Given the description of an element on the screen output the (x, y) to click on. 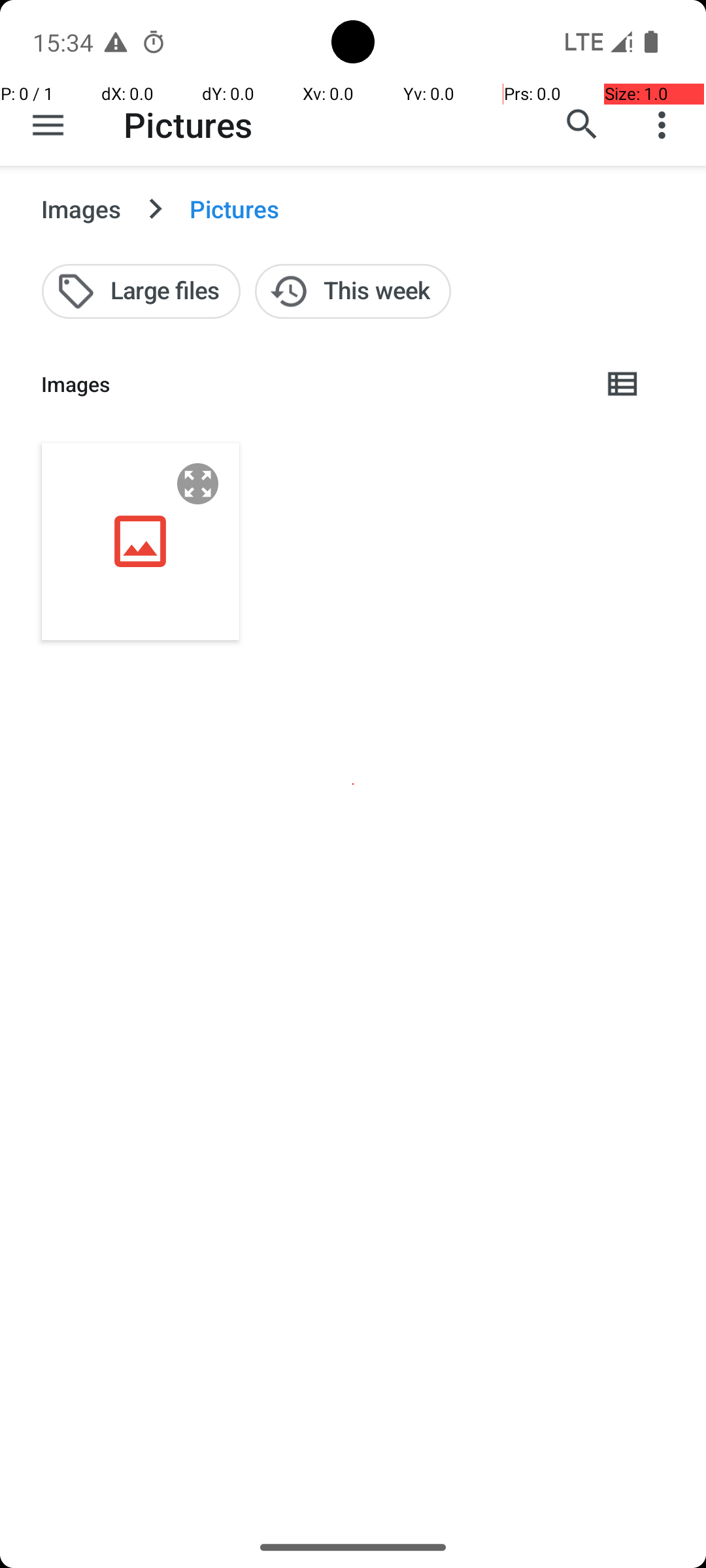
Pictures Element type: android.widget.TextView (187, 124)
IMG_20231015_153414.jpg, 145 kB, 15:34 Element type: android.widget.LinearLayout (140, 541)
Preview the file IMG_20231015_153414.jpg Element type: android.widget.FrameLayout (197, 483)
